Given the description of an element on the screen output the (x, y) to click on. 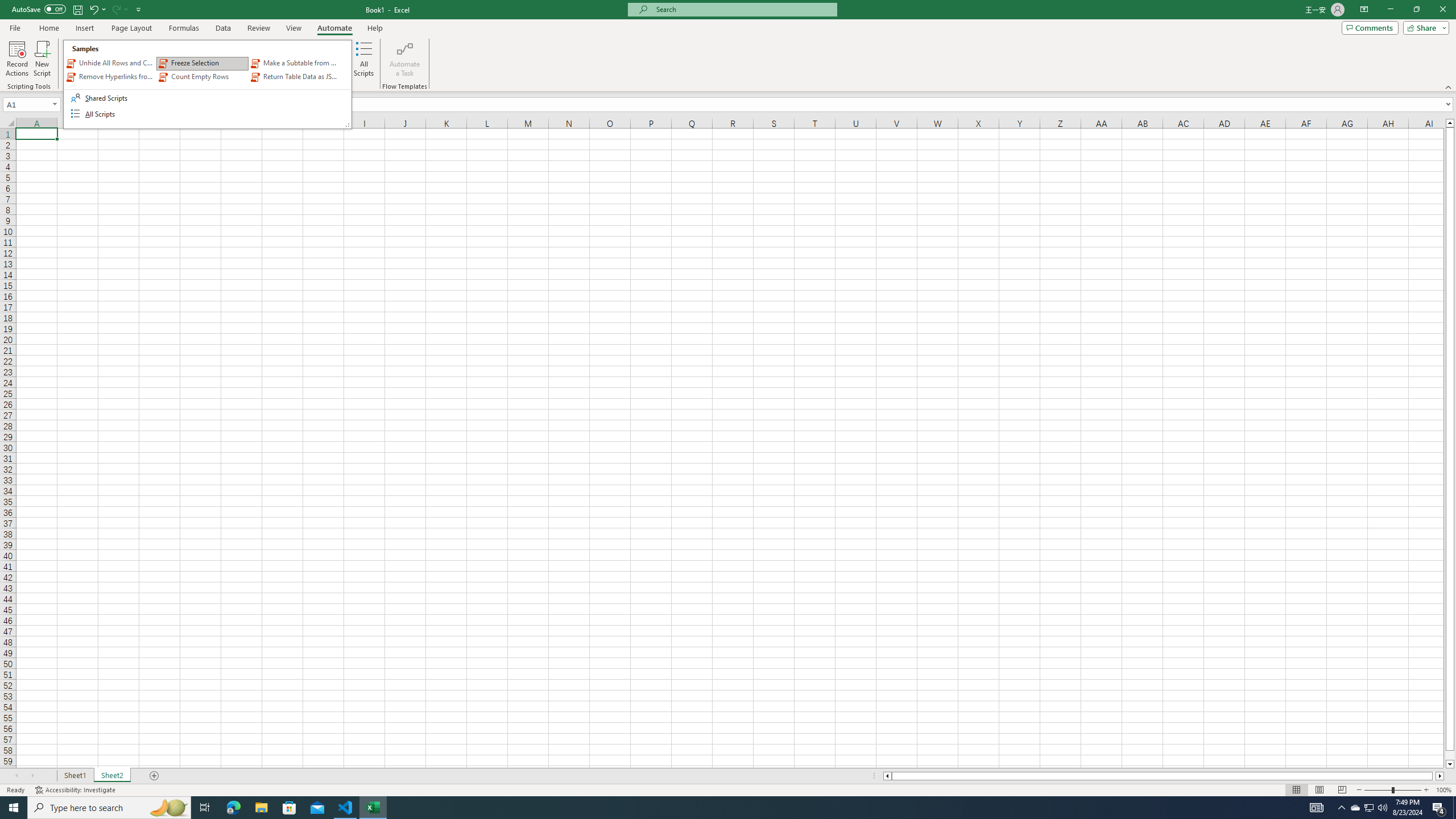
Scroll Left (16, 775)
Line down (1449, 764)
AutomationID: 4105 (1316, 807)
Record Actions (17, 58)
Redo (115, 9)
Undo (92, 9)
Class: NetUIScrollBar (1163, 775)
Show desktop (1454, 807)
Review (258, 28)
View (293, 28)
Open (54, 104)
Sheet1 (74, 775)
Restore Down (1416, 9)
Customize Quick Access Toolbar (139, 9)
